Given the description of an element on the screen output the (x, y) to click on. 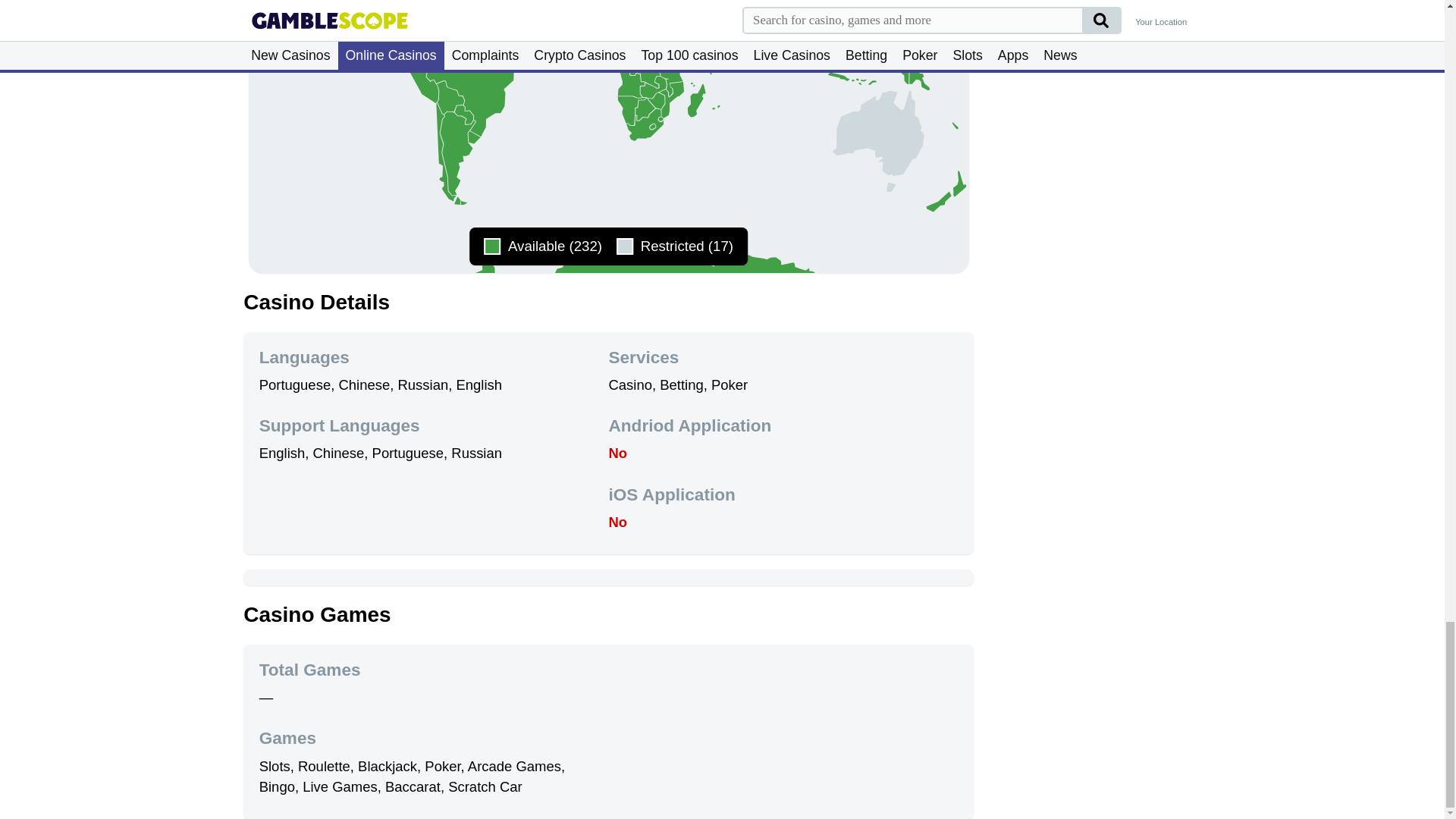
Angola (630, 83)
Argentina (463, 201)
